Given the description of an element on the screen output the (x, y) to click on. 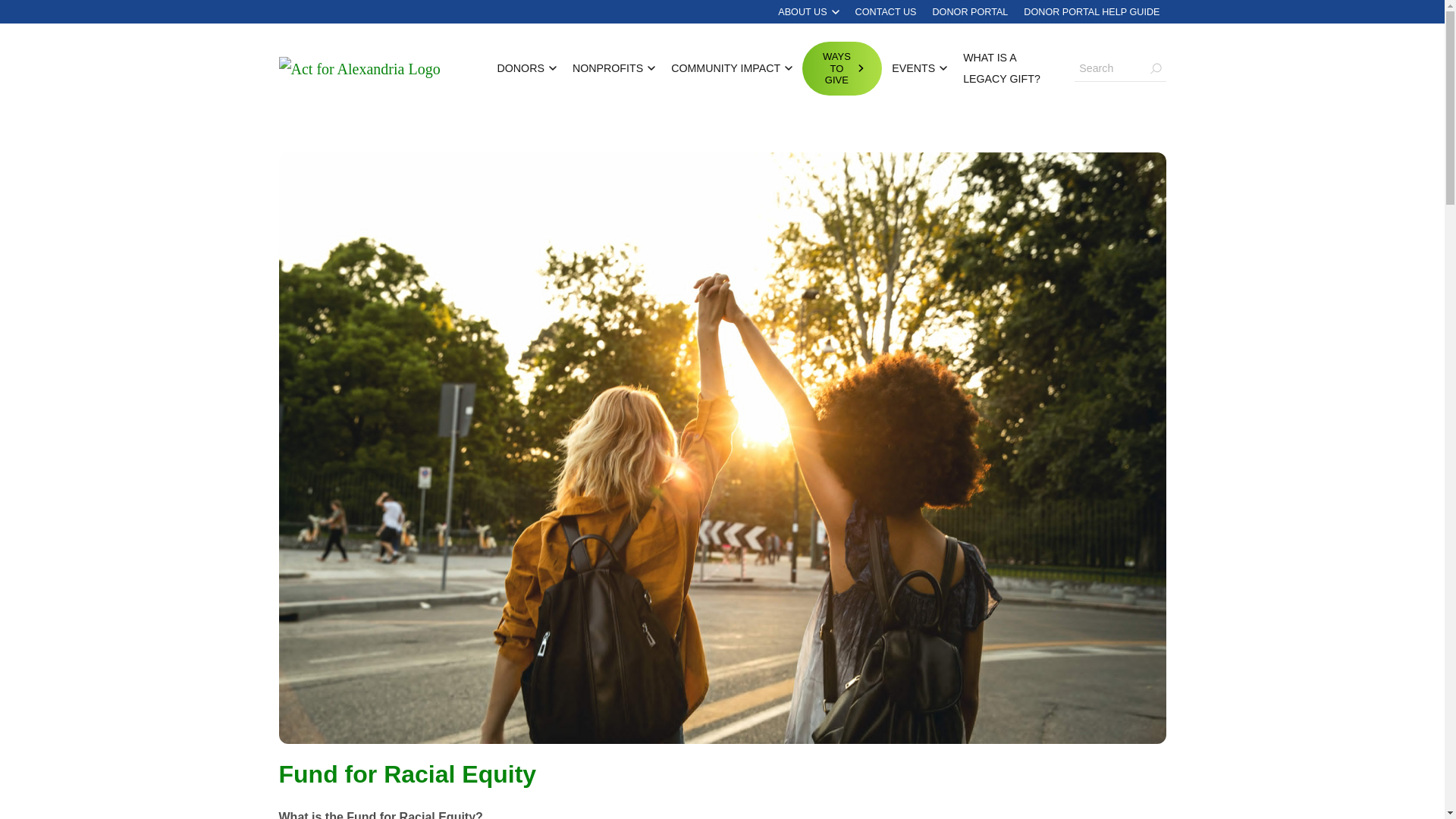
DONOR PORTAL (970, 11)
DONOR PORTAL HELP GUIDE (1091, 11)
CONTACT US (885, 11)
Fund for Racial Equity (722, 446)
ABOUT US (807, 11)
NONPROFITS (613, 67)
Fund for Racial Equity (408, 773)
COMMUNITY IMPACT (731, 67)
DONORS (527, 67)
